Given the description of an element on the screen output the (x, y) to click on. 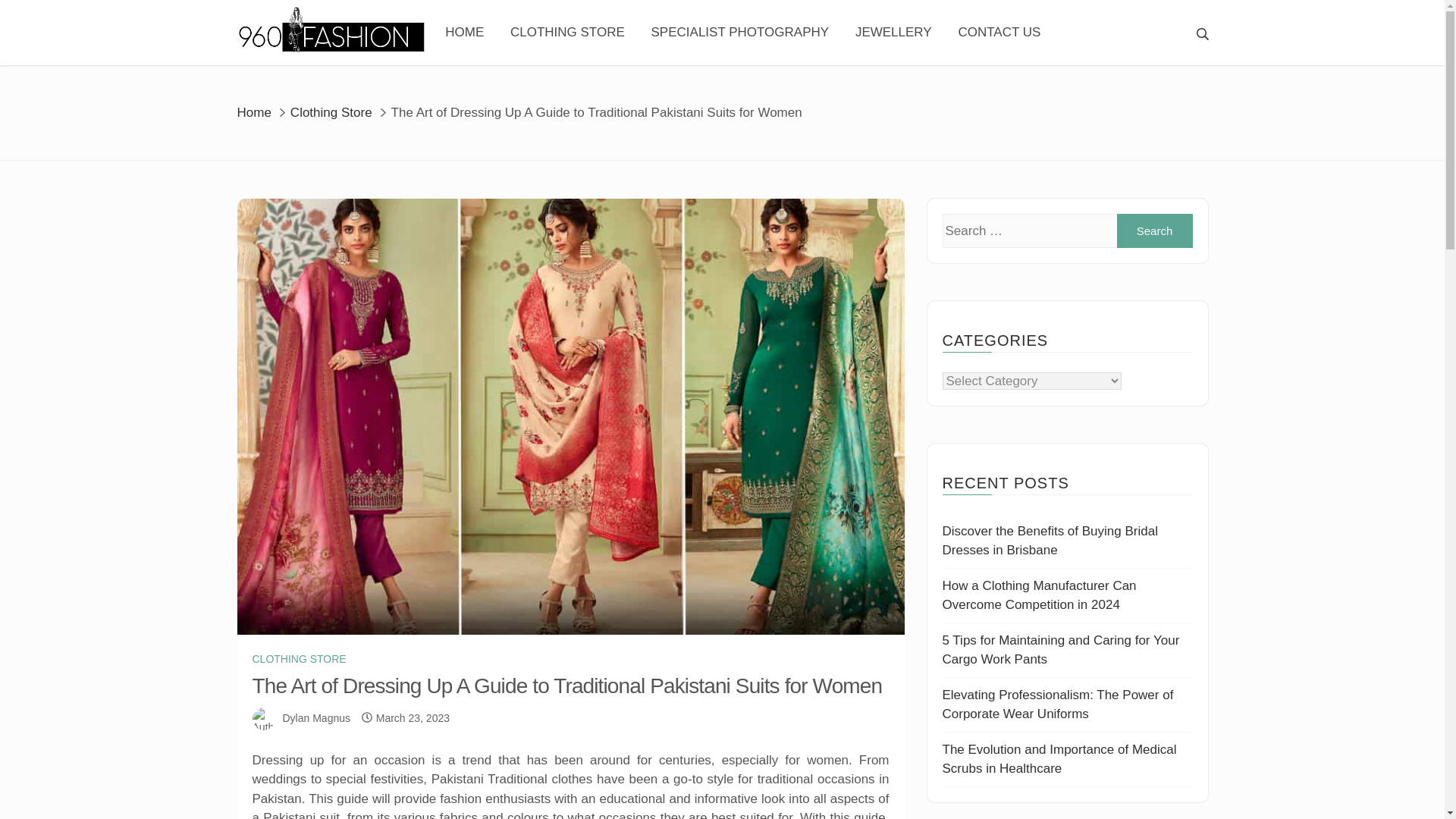
March 23, 2023 (412, 717)
SPECIALIST PHOTOGRAPHY (739, 32)
Search (1154, 230)
How a Clothing Manufacturer Can Overcome Competition in 2024 (1038, 595)
Search (1154, 230)
Clothing Store (330, 111)
Home (252, 111)
JEWELLERY (893, 32)
Dylan Magnus (316, 717)
Search (1154, 230)
Search (873, 22)
CONTACT US (999, 32)
CLOTHING STORE (298, 659)
Discover the Benefits of Buying Bridal Dresses in Brisbane (1049, 540)
